Given the description of an element on the screen output the (x, y) to click on. 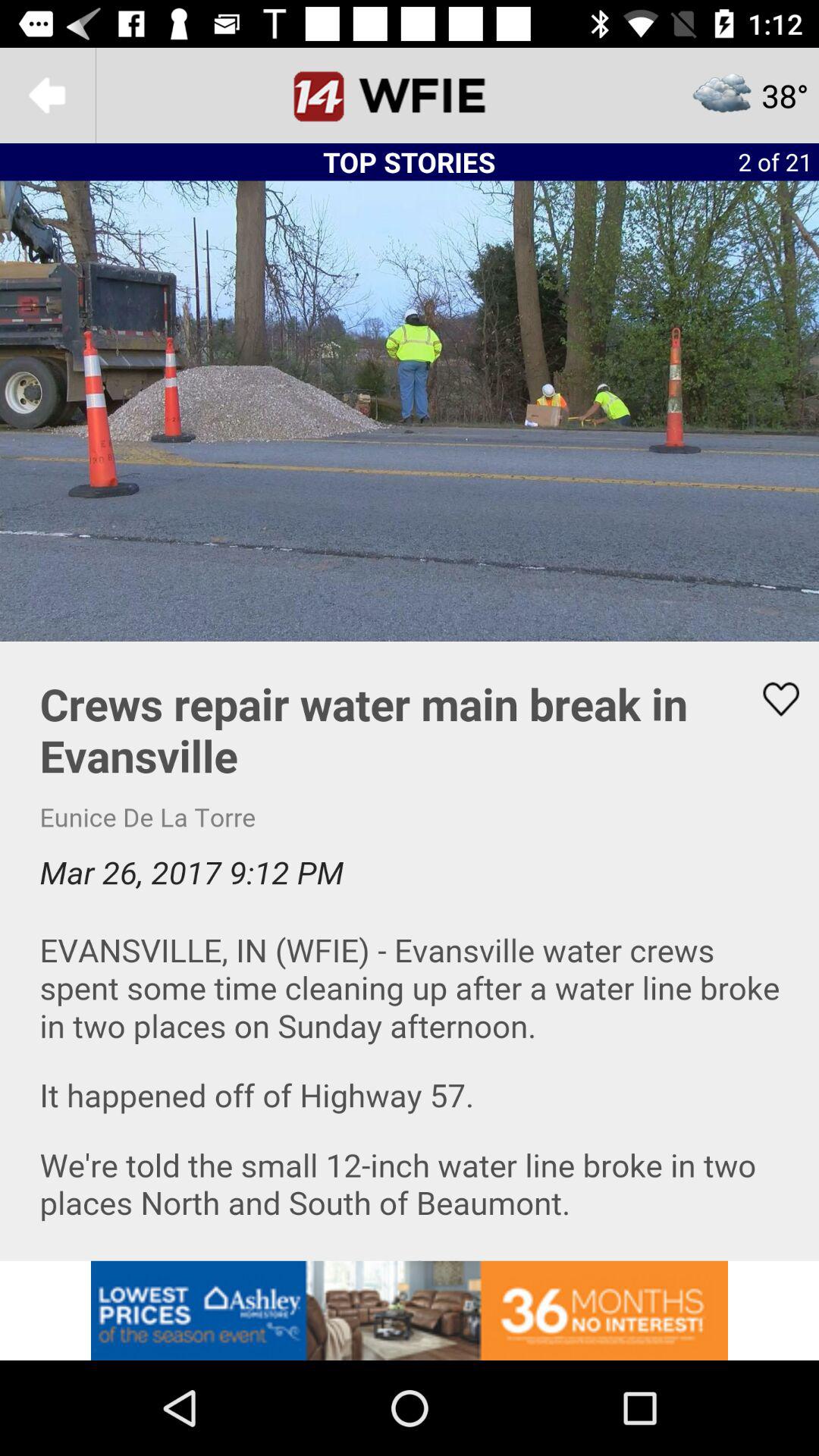
like button (771, 699)
